Given the description of an element on the screen output the (x, y) to click on. 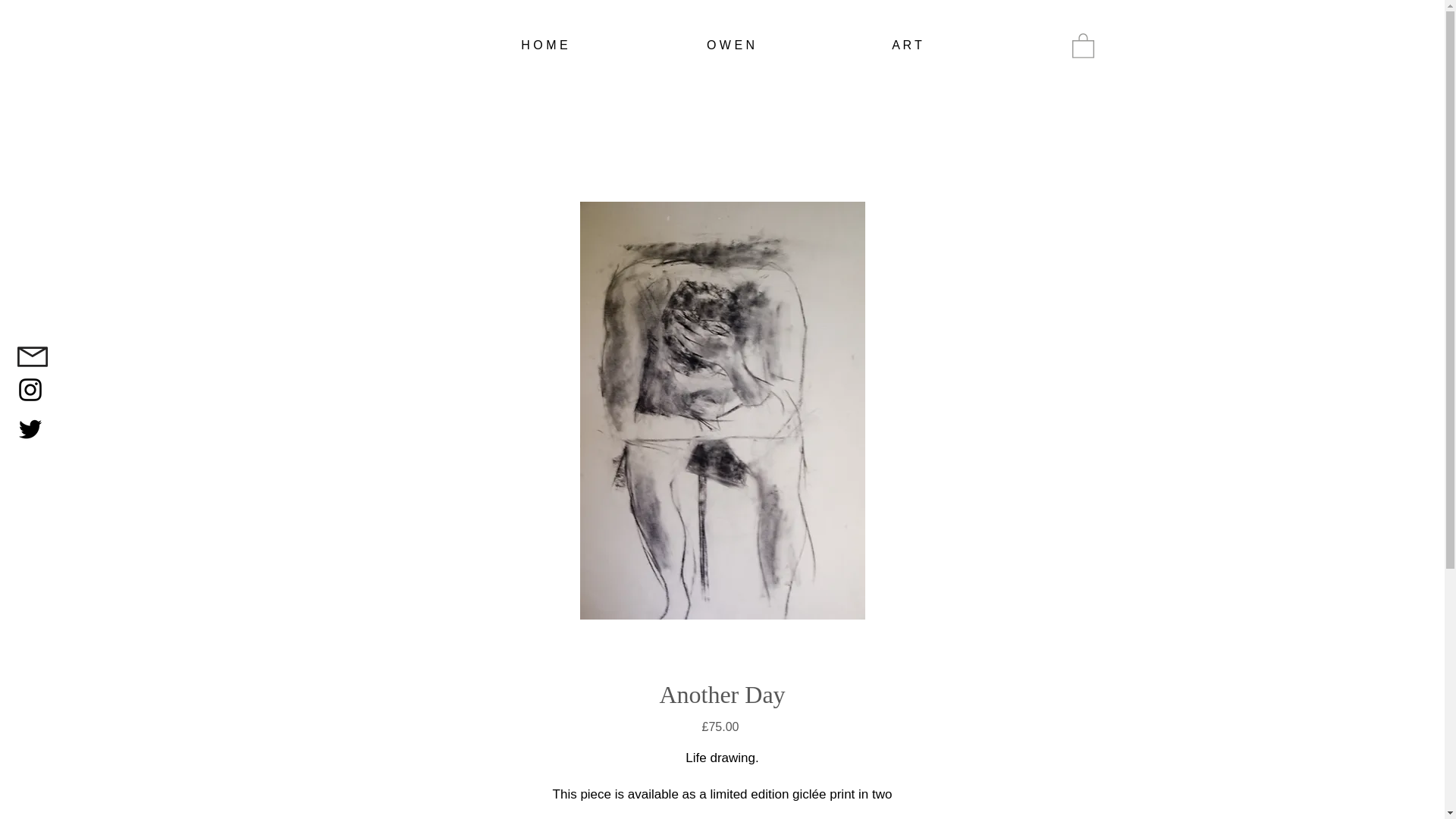
O W E N (731, 45)
H O M E (543, 45)
A R T (907, 45)
